Given the description of an element on the screen output the (x, y) to click on. 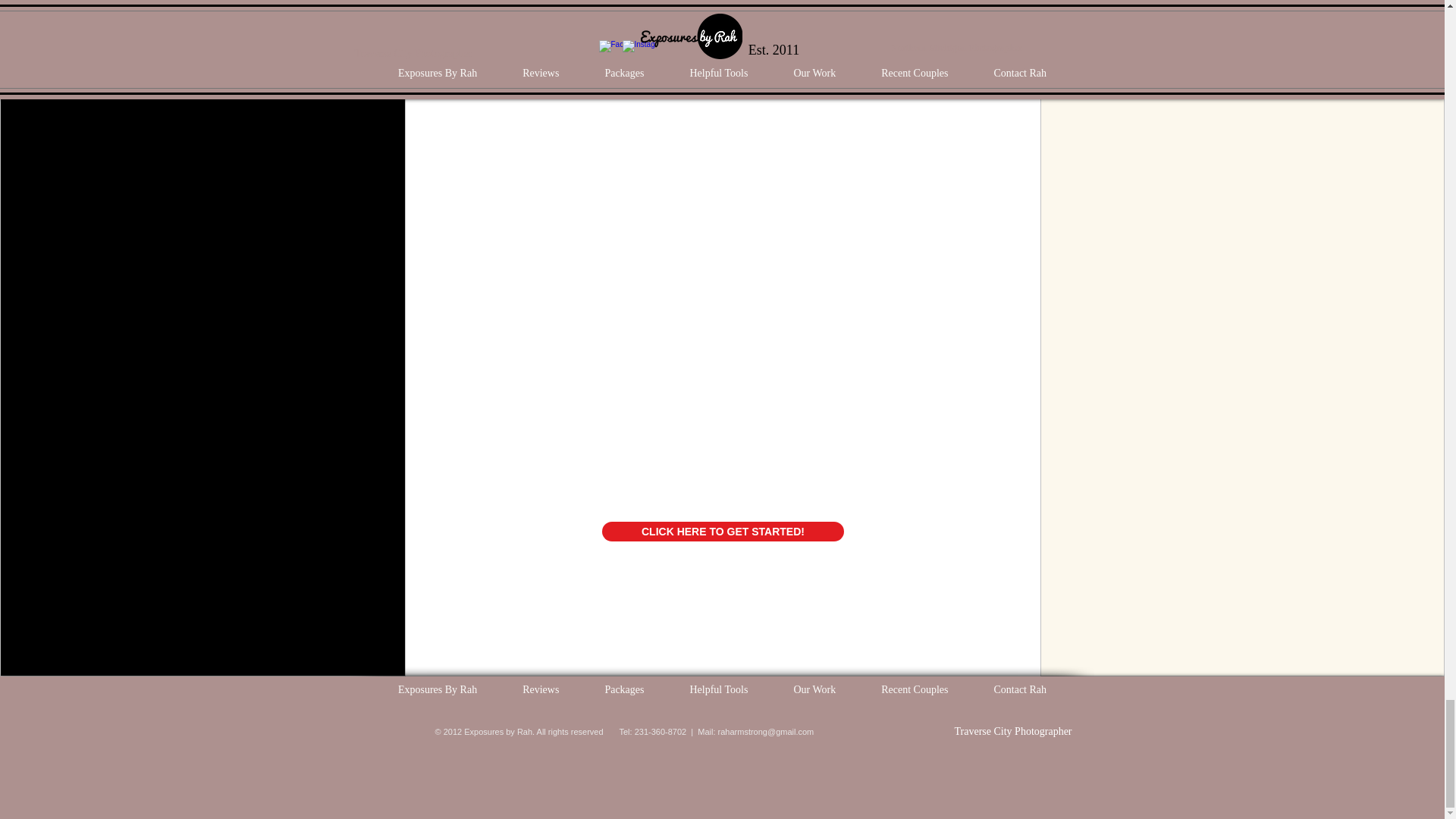
Exposures By Rah (437, 689)
CLICK HERE TO GET STARTED! (723, 531)
